Given the description of an element on the screen output the (x, y) to click on. 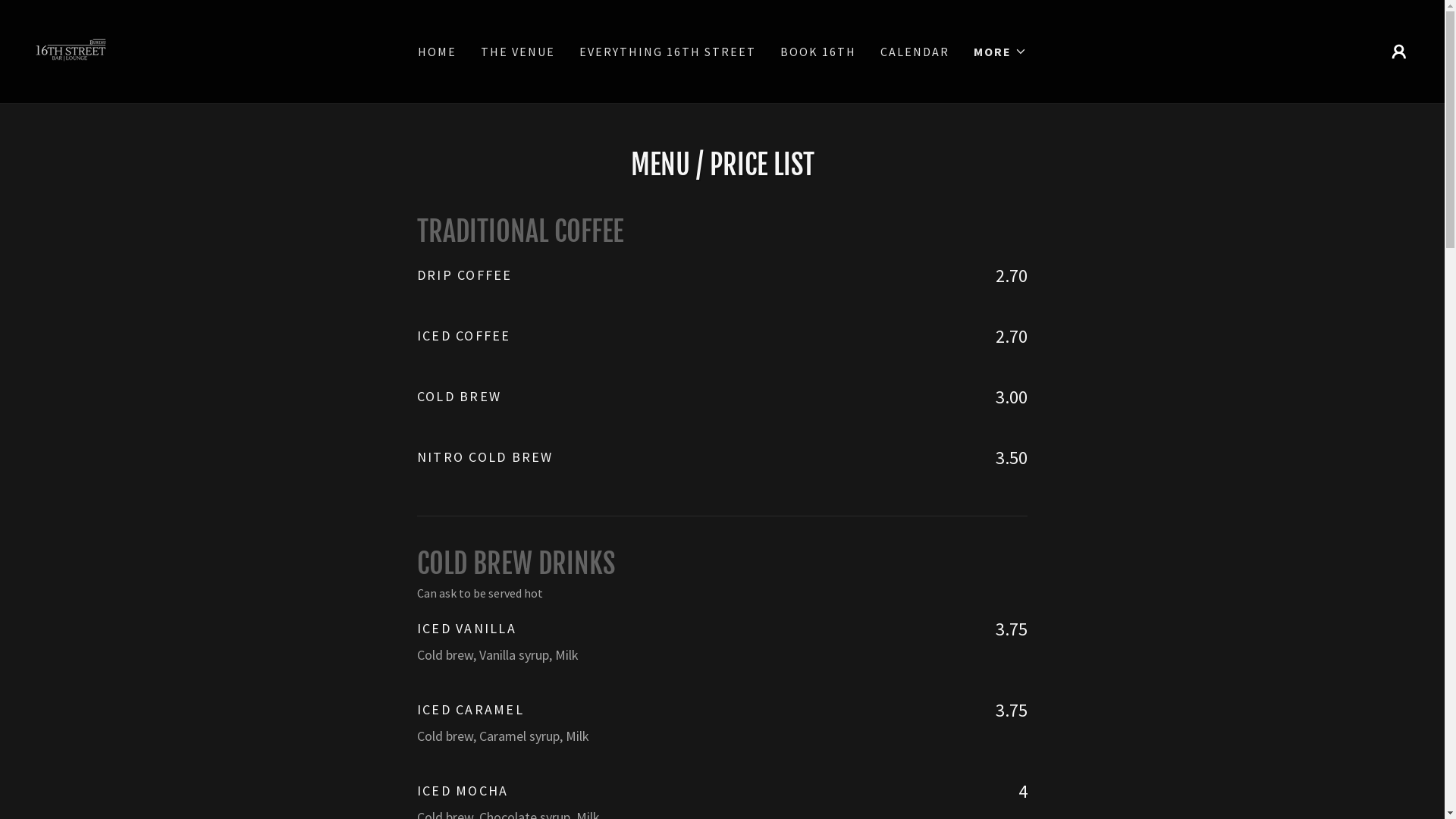
MORE Element type: text (999, 51)
BOOK 16TH Element type: text (817, 51)
CALENDAR Element type: text (914, 51)
HOME Element type: text (437, 51)
THE VENUE Element type: text (517, 51)
EVERYTHING 16TH STREET Element type: text (667, 51)
